Given the description of an element on the screen output the (x, y) to click on. 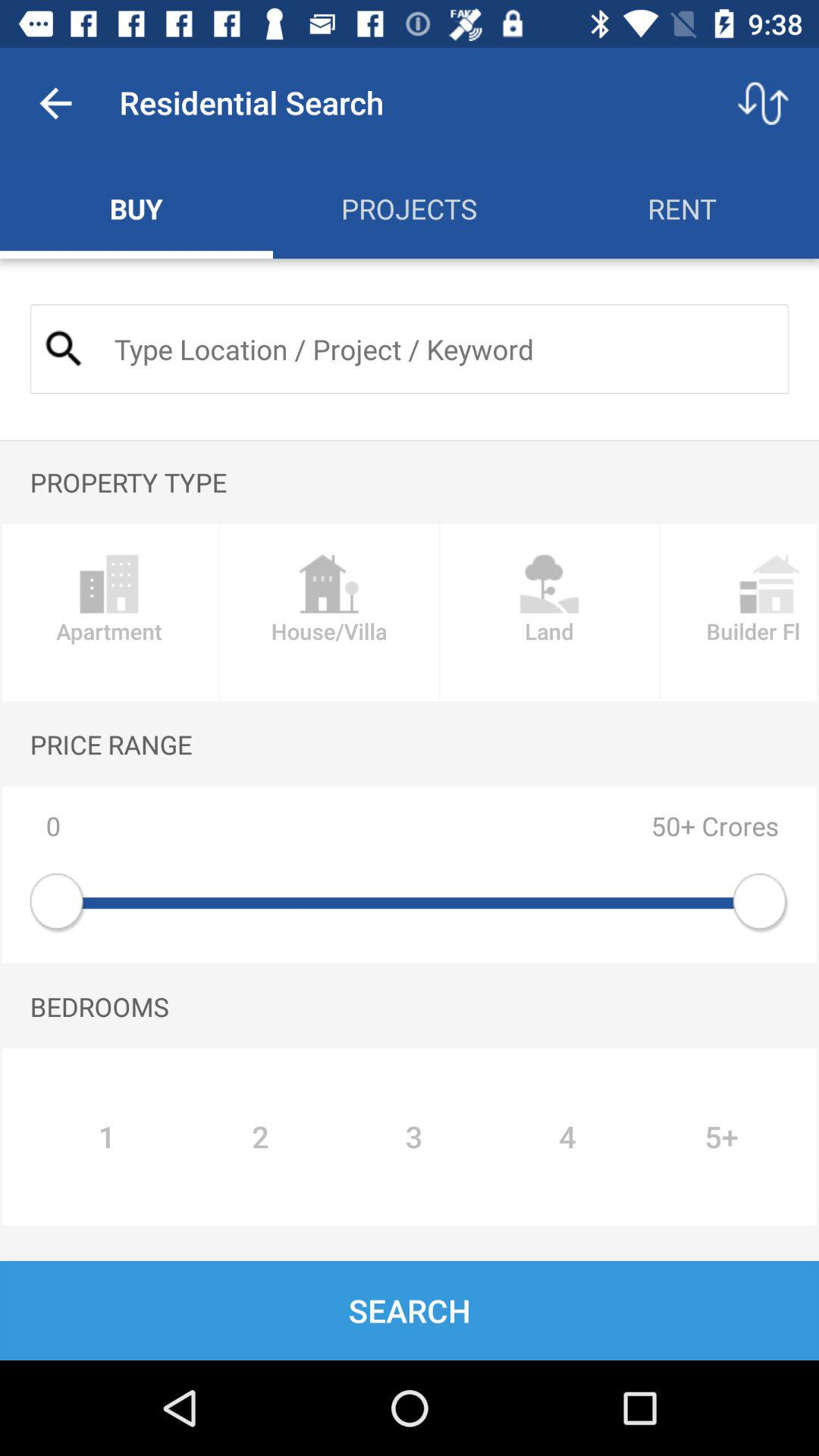
press the icon above the search icon (106, 1137)
